Given the description of an element on the screen output the (x, y) to click on. 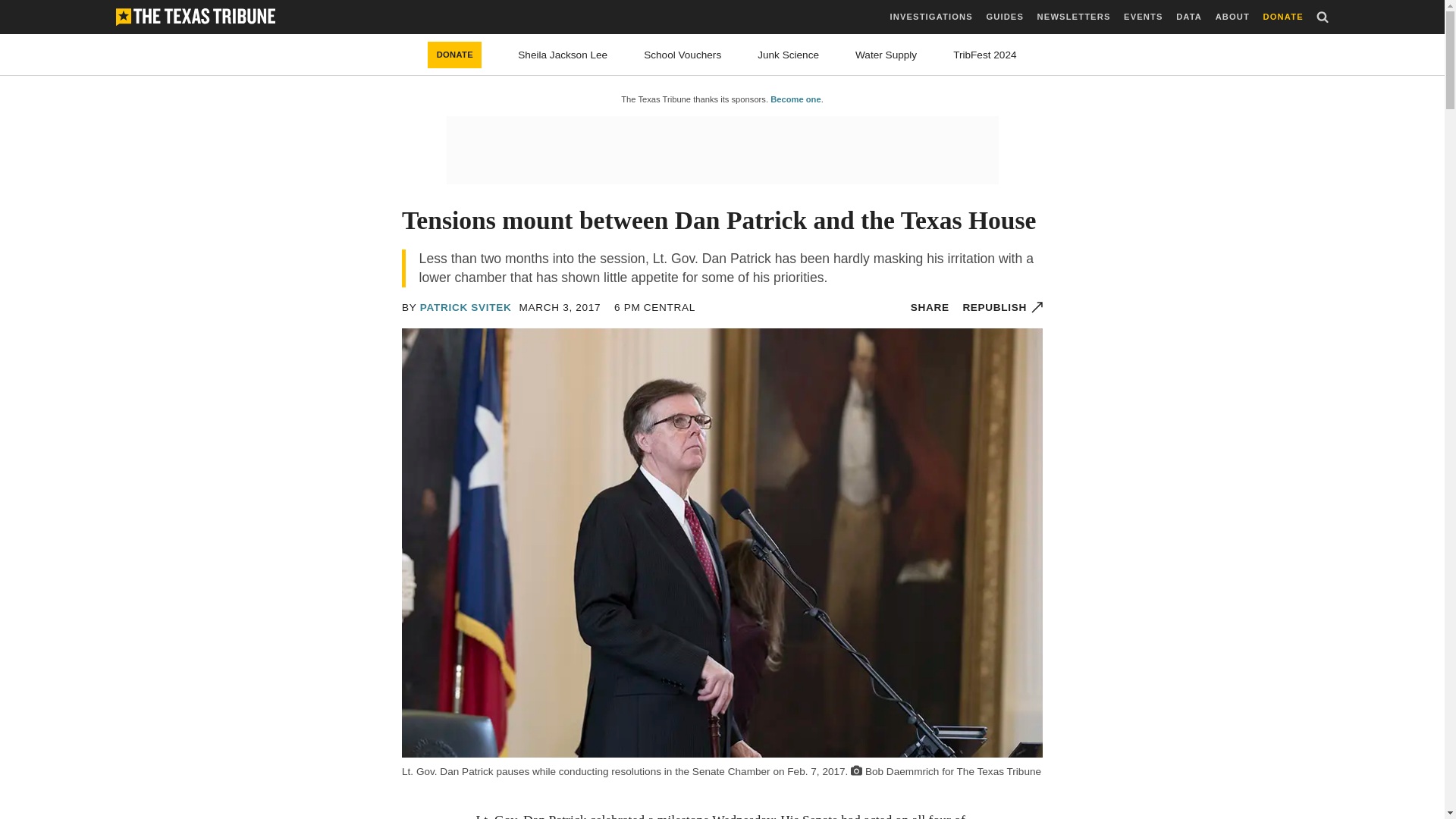
TribFest 2024 (984, 54)
2017-03-03 18:05 CST (654, 307)
GUIDES (1004, 17)
Junk Science (787, 54)
2017-03-03 18:05 CST (560, 307)
School Vouchers (681, 54)
Become one (795, 99)
DONATE (454, 54)
ABOUT (1232, 17)
INVESTIGATIONS (930, 17)
